Given the description of an element on the screen output the (x, y) to click on. 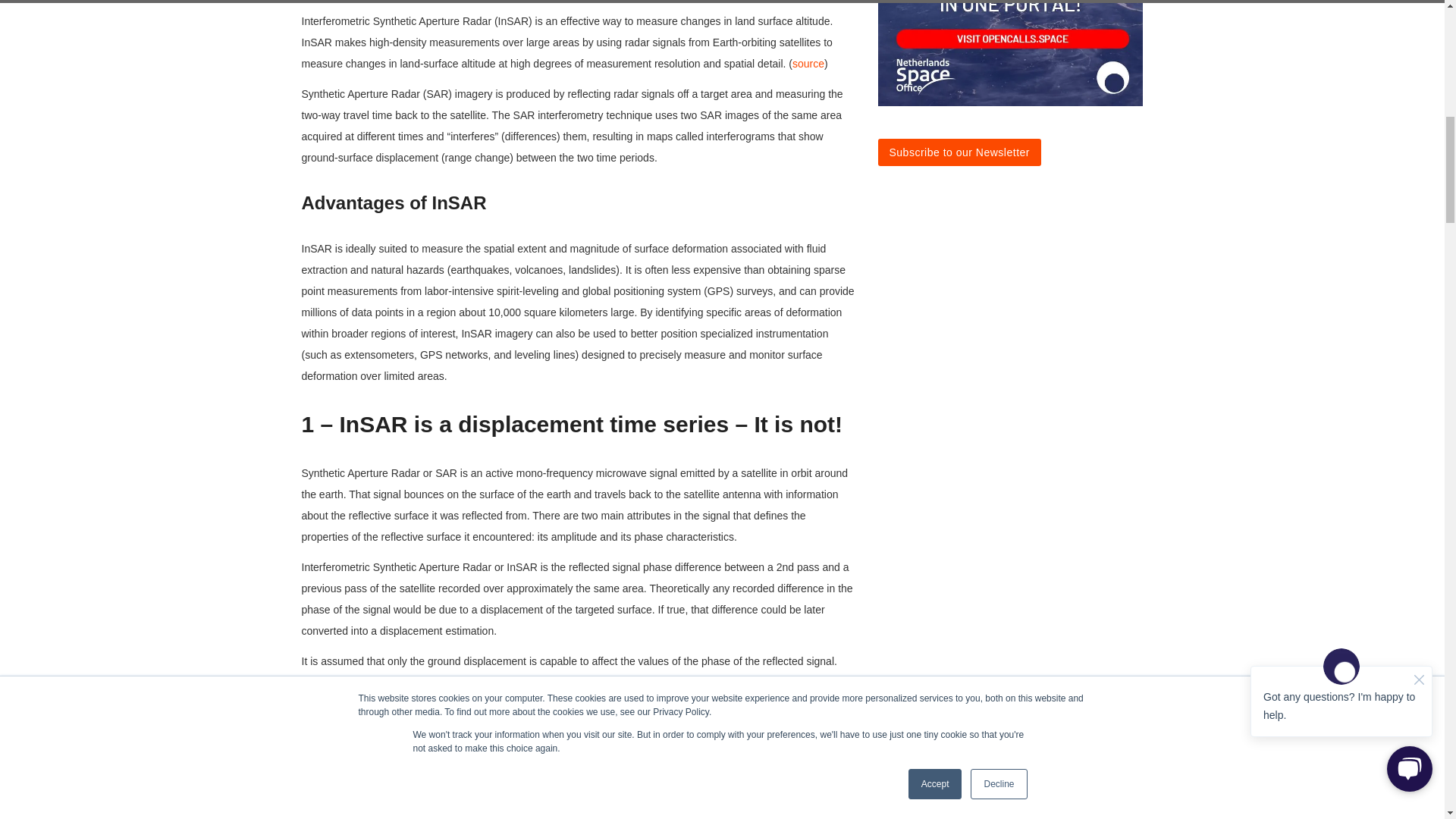
source (808, 63)
